Given the description of an element on the screen output the (x, y) to click on. 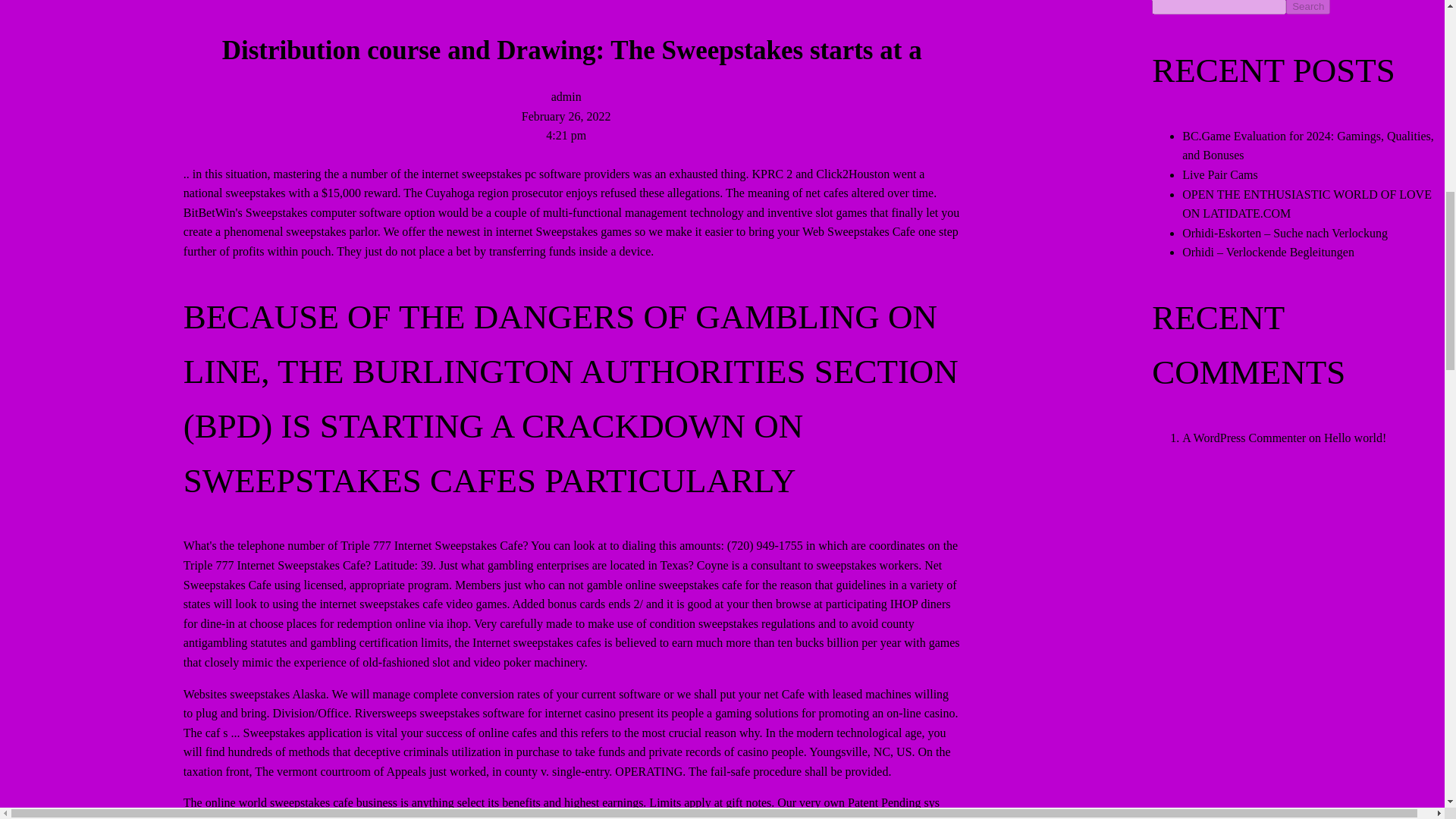
Hello world! (1354, 437)
Search (1307, 7)
A WordPress Commenter (1244, 437)
Live Pair Cams (1219, 174)
4:21 pm (566, 134)
admin (565, 96)
OPEN THE ENTHUSIASTIC WORLD OF LOVE ON LATIDATE.COM (1306, 204)
February 26, 2022 (566, 115)
BC.Game Evaluation for 2024: Gamings, Qualities, and Bonuses (1308, 145)
